Given the description of an element on the screen output the (x, y) to click on. 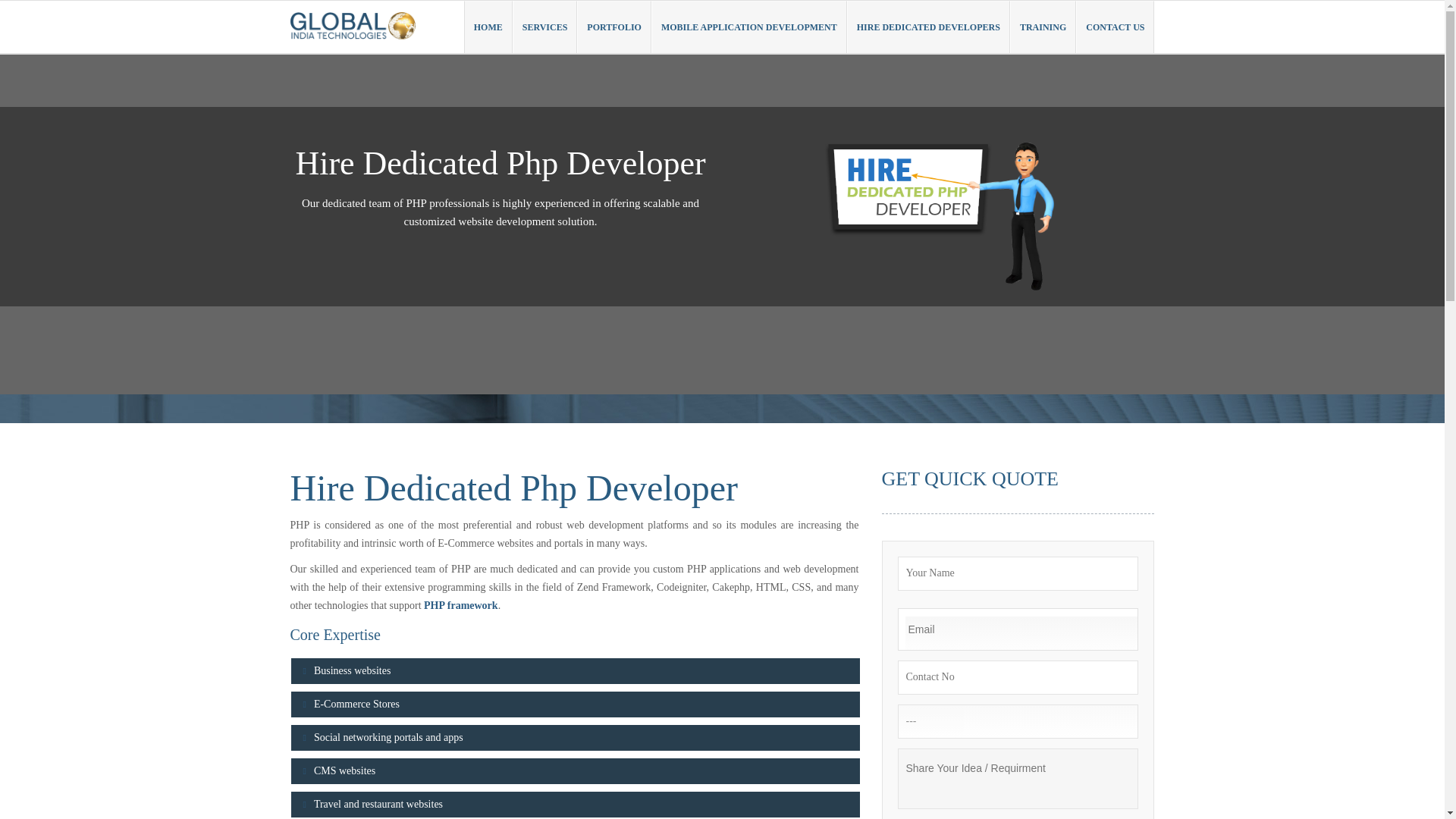
HOME (488, 26)
PORTFOLIO (613, 26)
SERVICES (545, 26)
Sign in (1126, 22)
Hire Dedicated Php Developer (943, 206)
MOBILE APPLICATION DEVELOPMENT (748, 26)
